Given the description of an element on the screen output the (x, y) to click on. 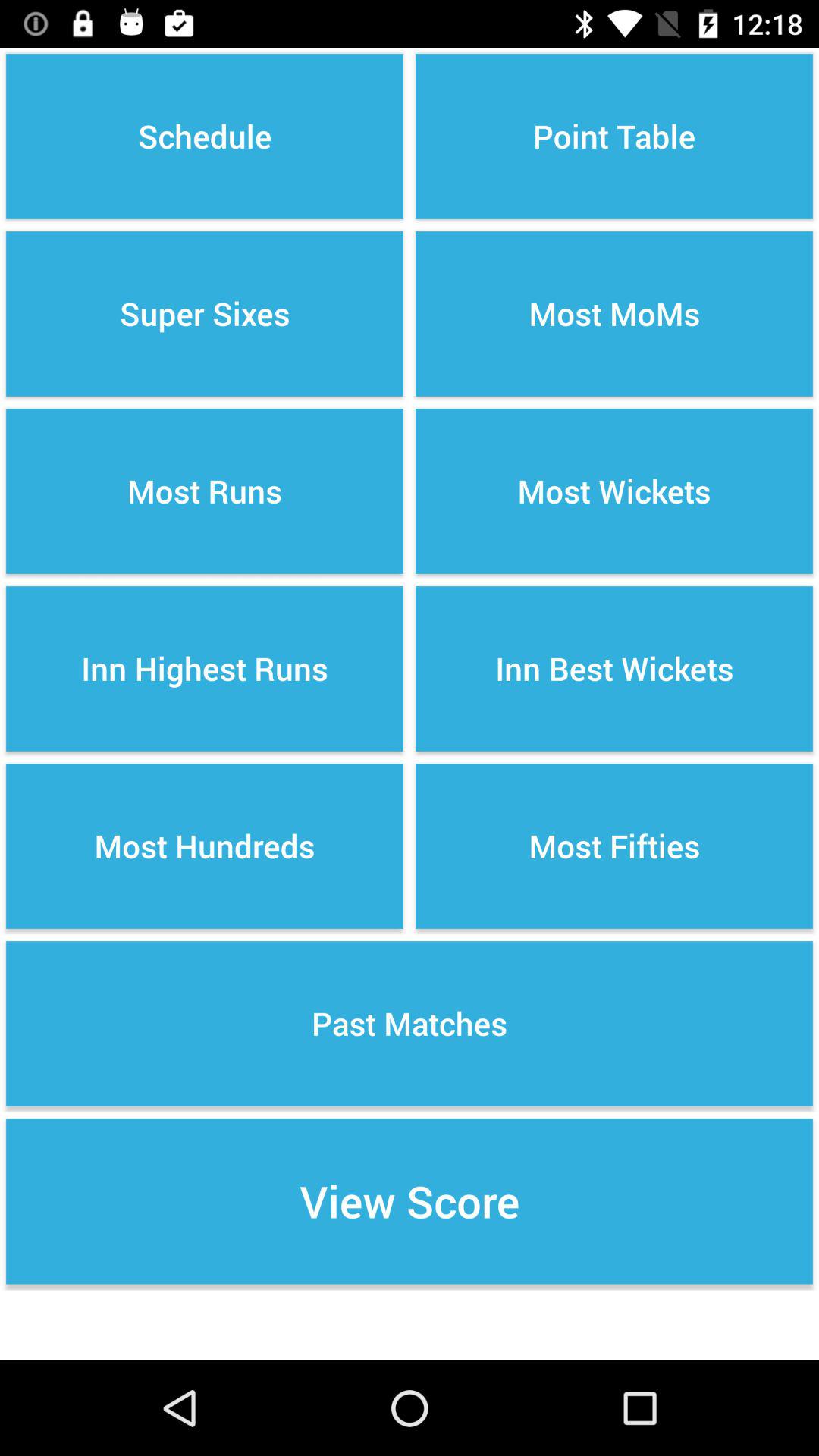
press the past matches icon (409, 1023)
